Given the description of an element on the screen output the (x, y) to click on. 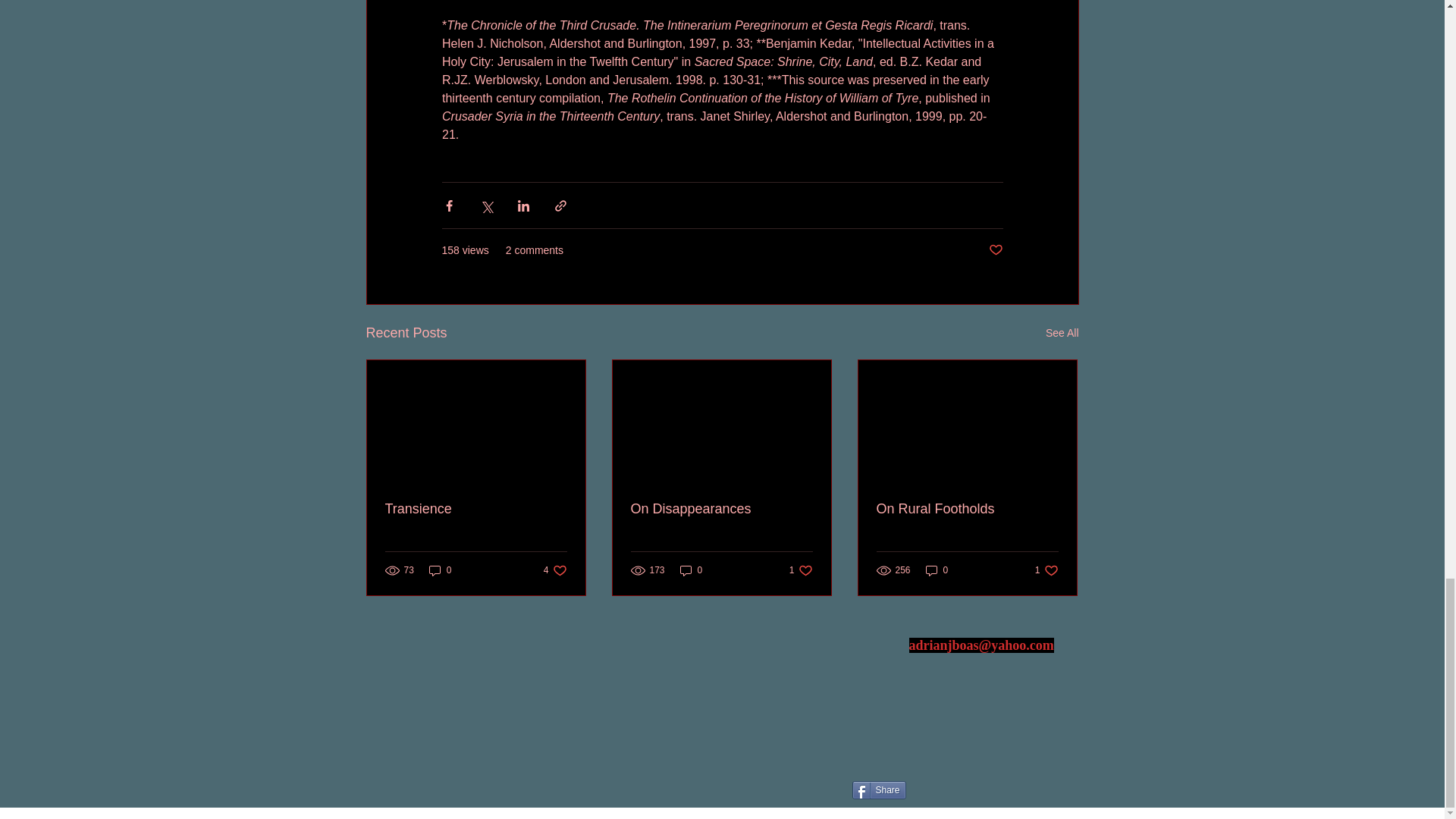
0 (691, 570)
See All (1061, 332)
Transience (476, 508)
Share (878, 790)
On Disappearances (1046, 570)
On Rural Footholds (721, 508)
Post not marked as liked (800, 570)
Facebook Like (967, 508)
